Given the description of an element on the screen output the (x, y) to click on. 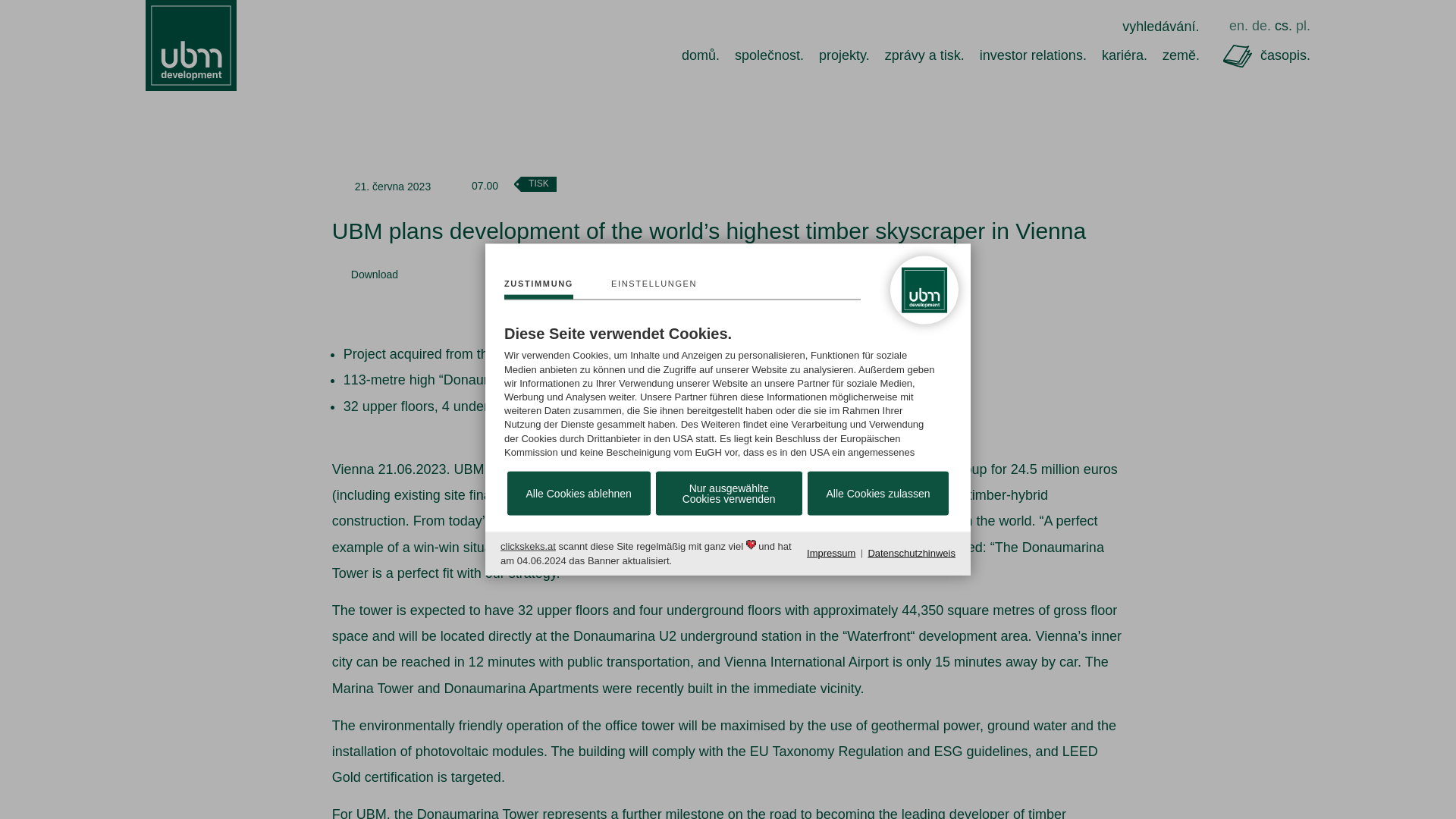
projekty. (843, 55)
clickskeks.at (528, 546)
Details (654, 288)
investor relations. (1032, 55)
